Given the description of an element on the screen output the (x, y) to click on. 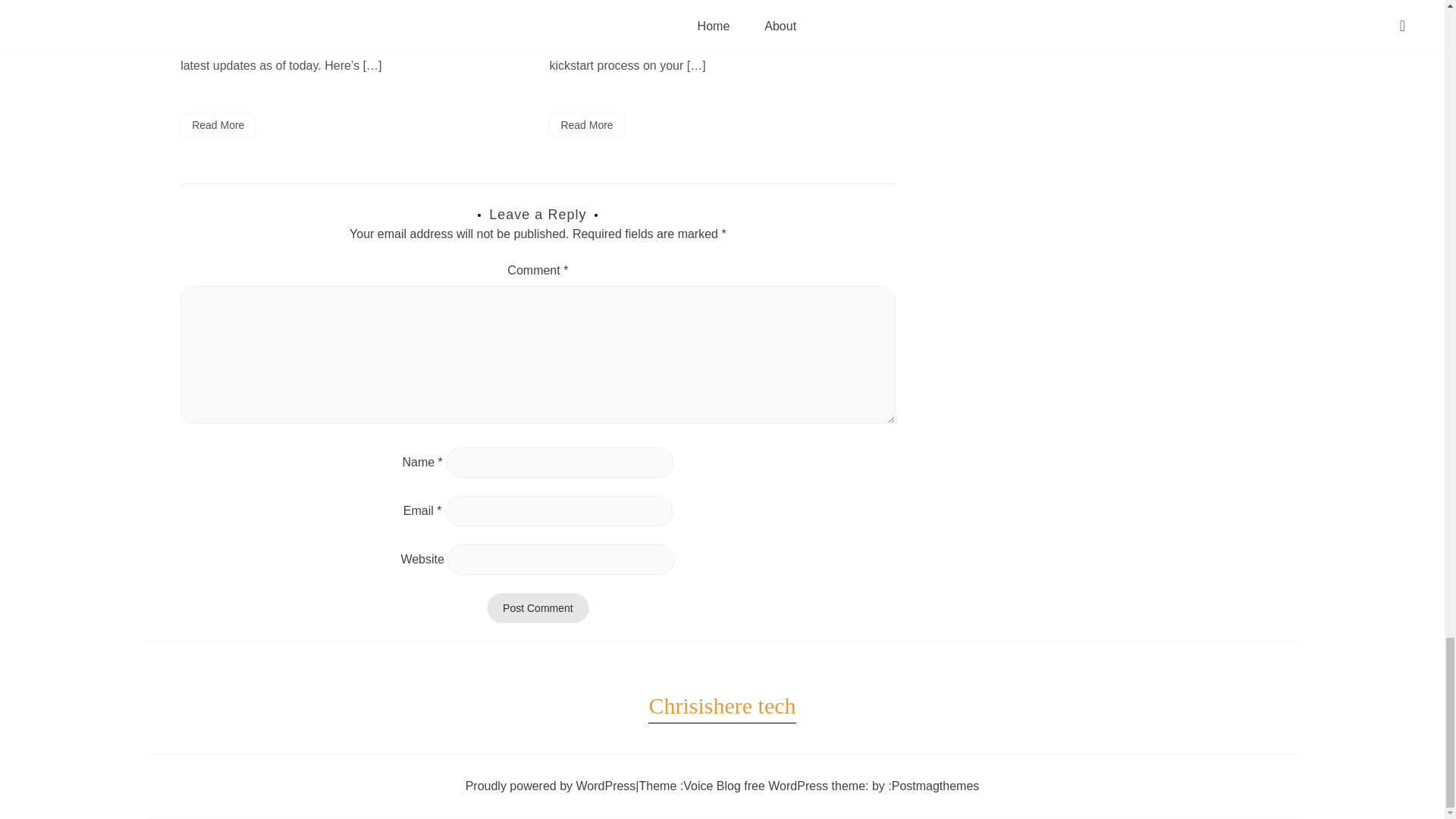
Chrisishere tech (720, 705)
Post Comment (537, 607)
Post Comment (537, 607)
Read More (586, 125)
Postmagthemes (935, 786)
Read More (218, 125)
Proudly powered by WordPress (550, 786)
Voice Blog free WordPress theme (773, 786)
